Given the description of an element on the screen output the (x, y) to click on. 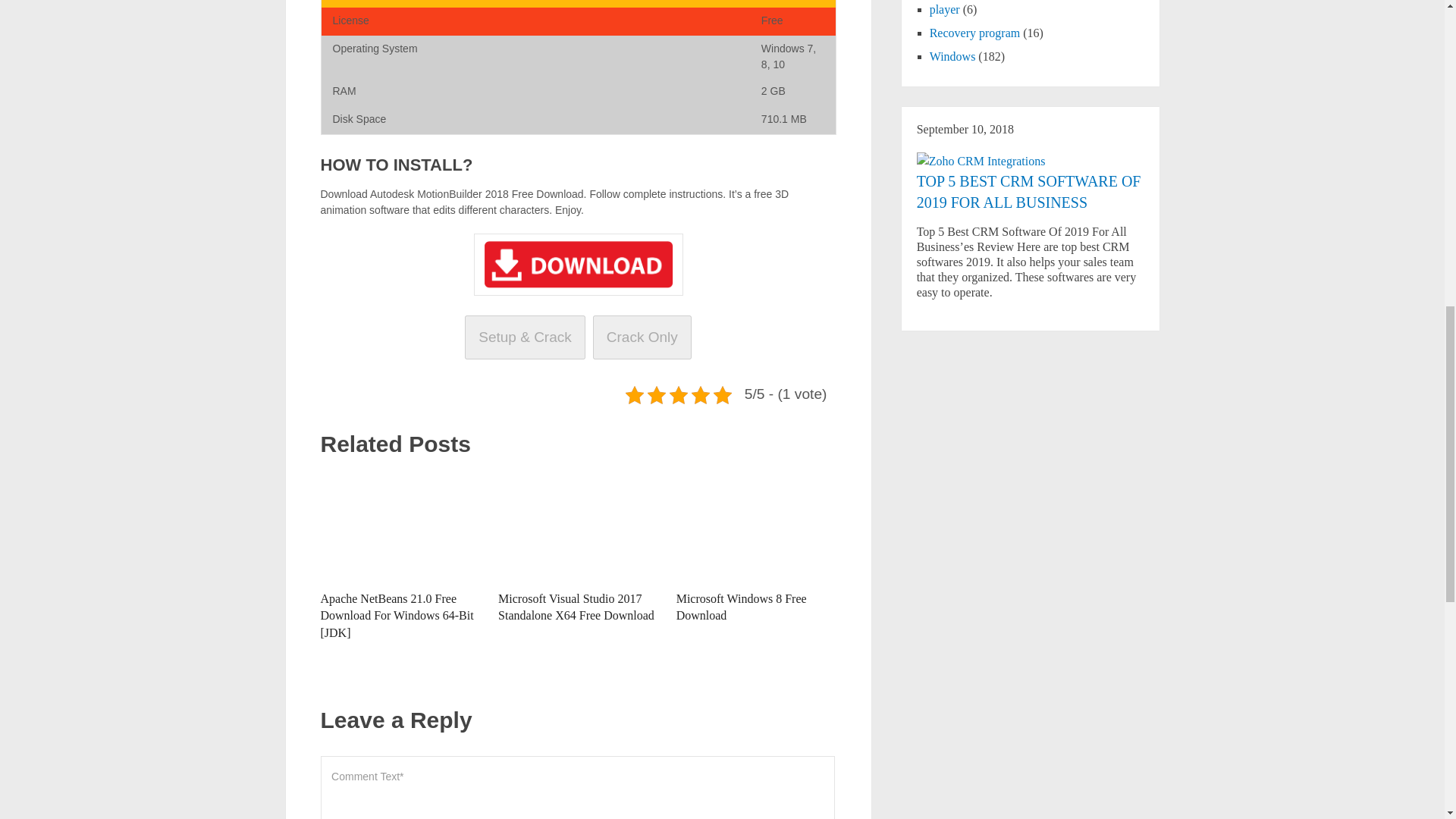
Crack Only (641, 337)
Microsoft Visual Studio 2017 Standalone X64 Free Download (575, 606)
Microsoft Visual Studio 2017 Standalone X64 Free Download (577, 526)
Microsoft Visual Studio 2017 Standalone X64 Free Download (575, 606)
Zoho CRM Integrations (981, 161)
Microsoft Windows 8 Free Download (741, 606)
Microsoft Windows 8 Free Download (741, 606)
Microsoft Windows 8 Free Download (756, 526)
